Given the description of an element on the screen output the (x, y) to click on. 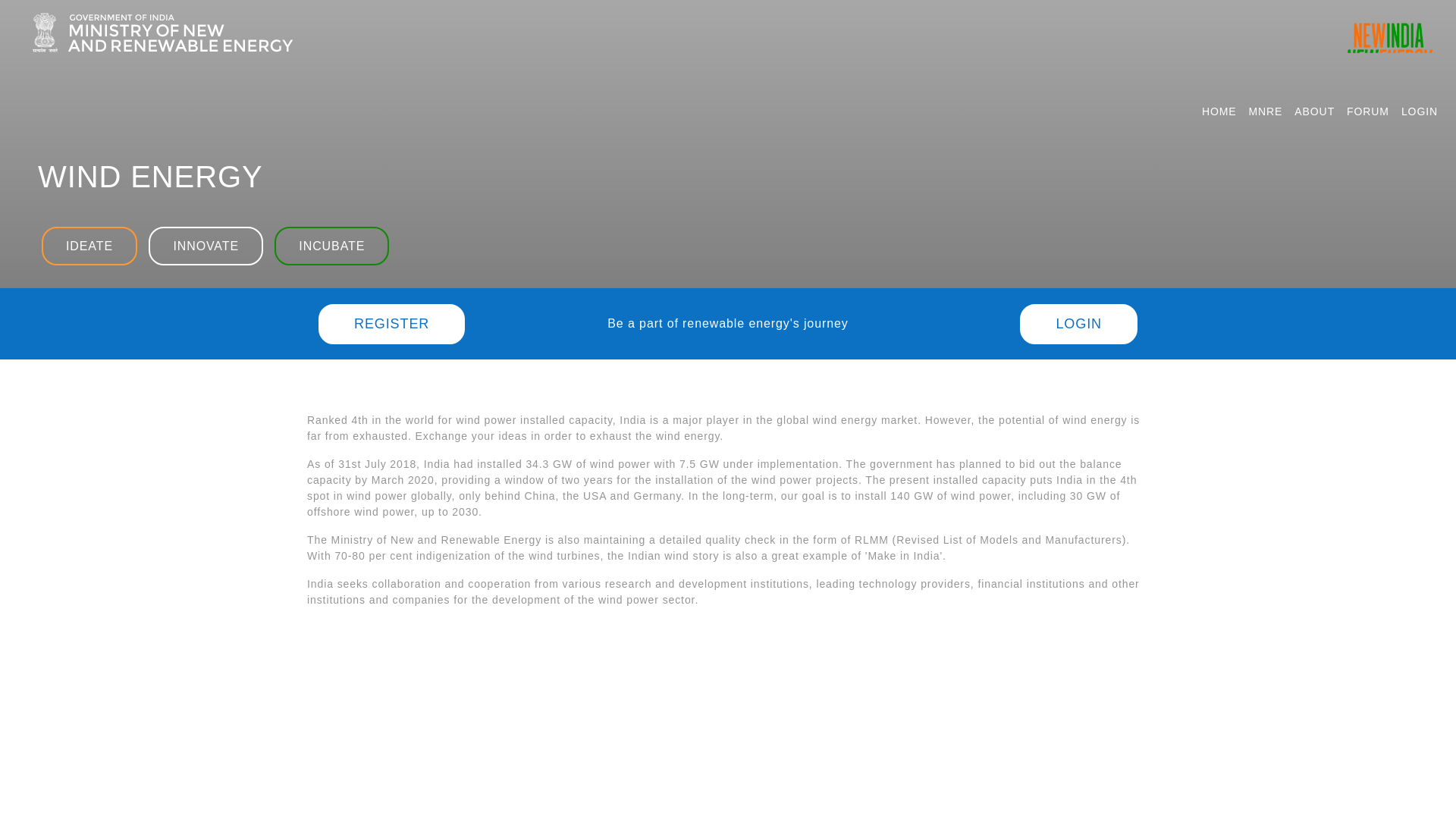
INNOVATE (205, 245)
REGISTER (391, 323)
IDEATE (89, 245)
ABOUT (1314, 111)
LOGIN (1078, 323)
MNRE (1265, 111)
INCUBATE (331, 245)
LOGIN (1419, 111)
FORUM (1367, 111)
